Given the description of an element on the screen output the (x, y) to click on. 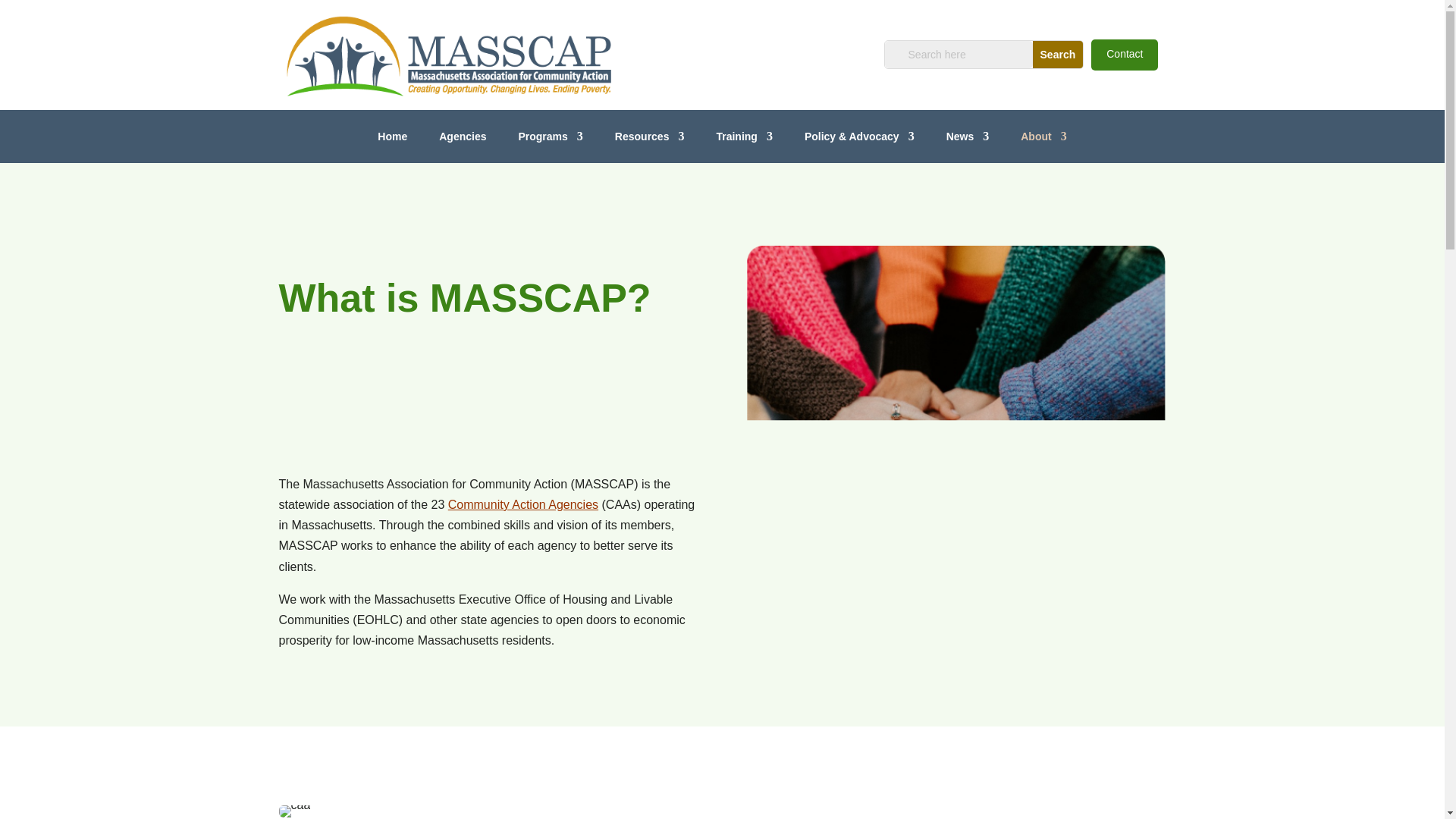
Programs (550, 139)
News (968, 139)
caa (295, 811)
Agencies (462, 139)
Rectangle 1610 (392, 400)
Training (743, 139)
Home (392, 139)
Search (1057, 53)
Search (1057, 53)
Contact (1123, 54)
